Given the description of an element on the screen output the (x, y) to click on. 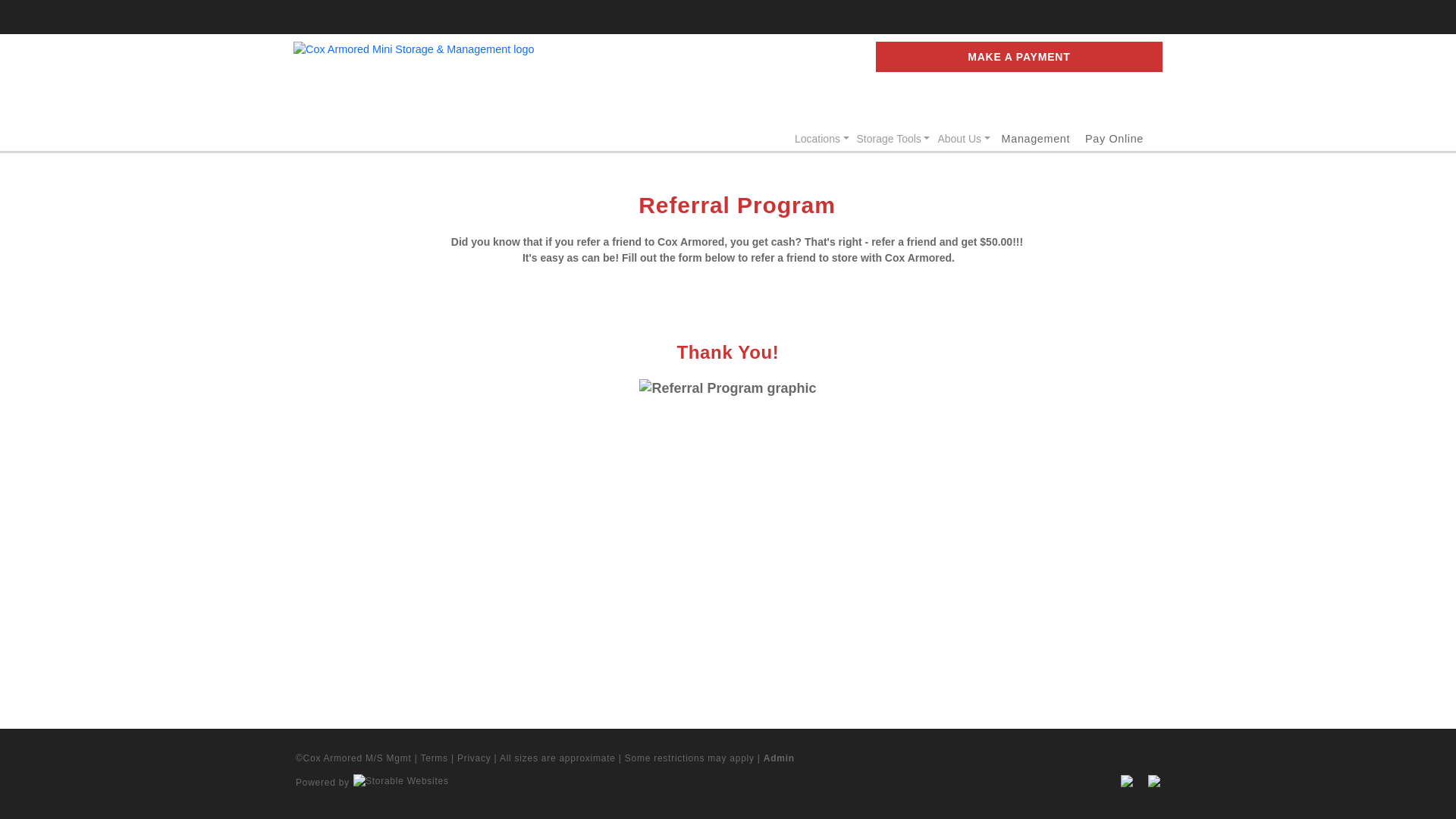
Terms (433, 757)
Pay Online (1113, 138)
Privacy (474, 757)
Admin (778, 757)
Referral Program graphic (727, 388)
Management (1035, 138)
About Us (962, 138)
Locations (821, 138)
Powered by (371, 779)
Storage Tools (893, 138)
